Given the description of an element on the screen output the (x, y) to click on. 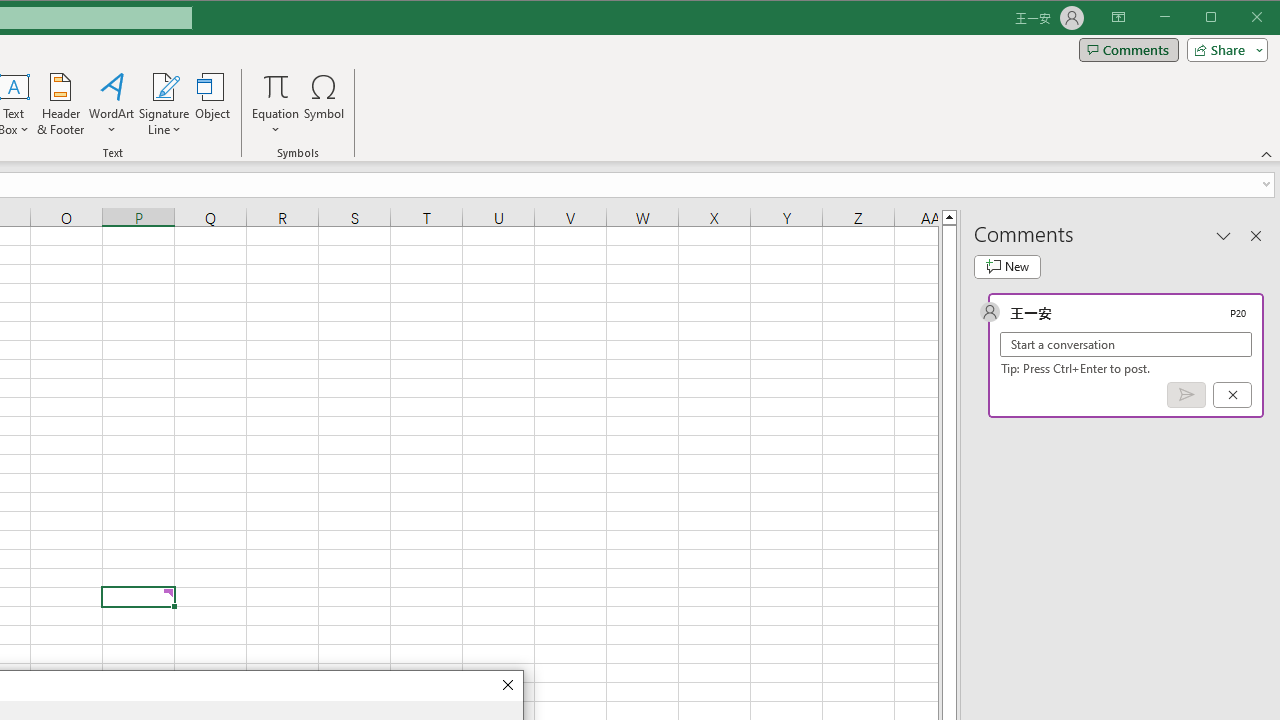
Equation (275, 104)
WordArt (111, 104)
Symbol... (324, 104)
Line up (948, 216)
More Options (275, 123)
Close (506, 686)
Ribbon Display Options (1118, 17)
Signature Line (164, 86)
New comment (1007, 266)
Equation (275, 86)
Signature Line (164, 104)
Start a conversation (1126, 344)
Post comment (Ctrl + Enter) (1186, 395)
